Given the description of an element on the screen output the (x, y) to click on. 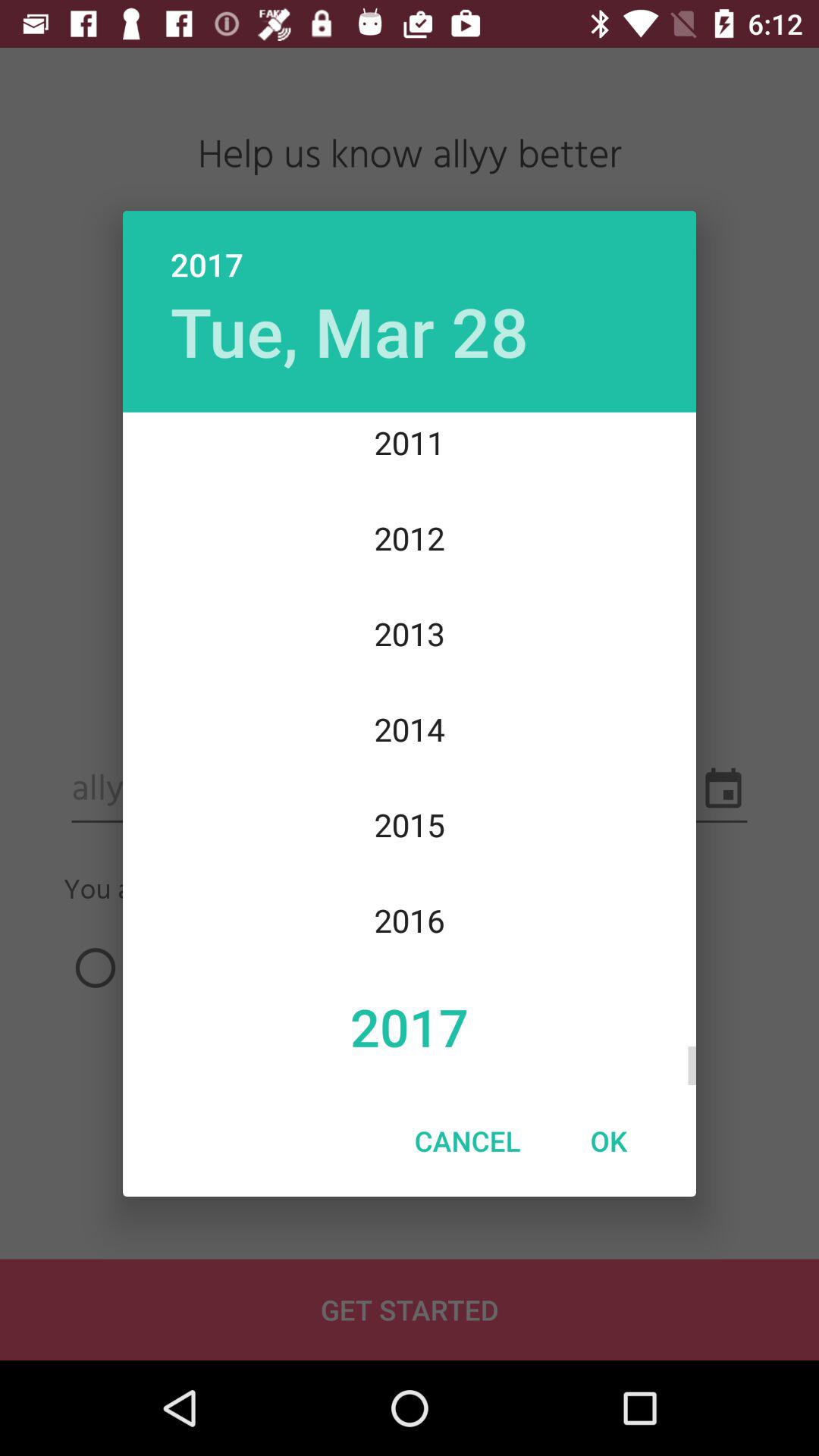
turn on icon below 2017 icon (608, 1140)
